Given the description of an element on the screen output the (x, y) to click on. 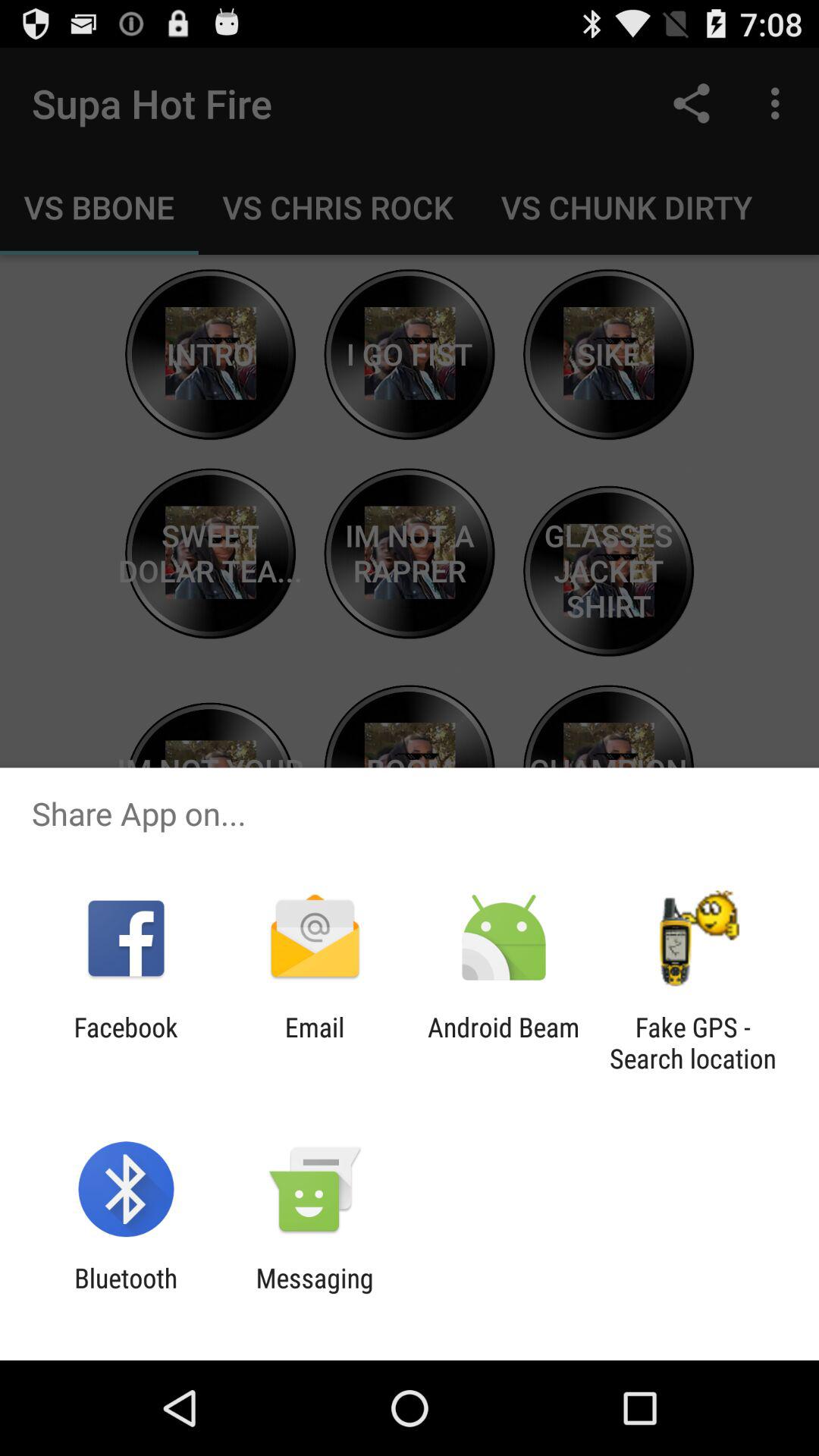
turn on the email (314, 1042)
